Given the description of an element on the screen output the (x, y) to click on. 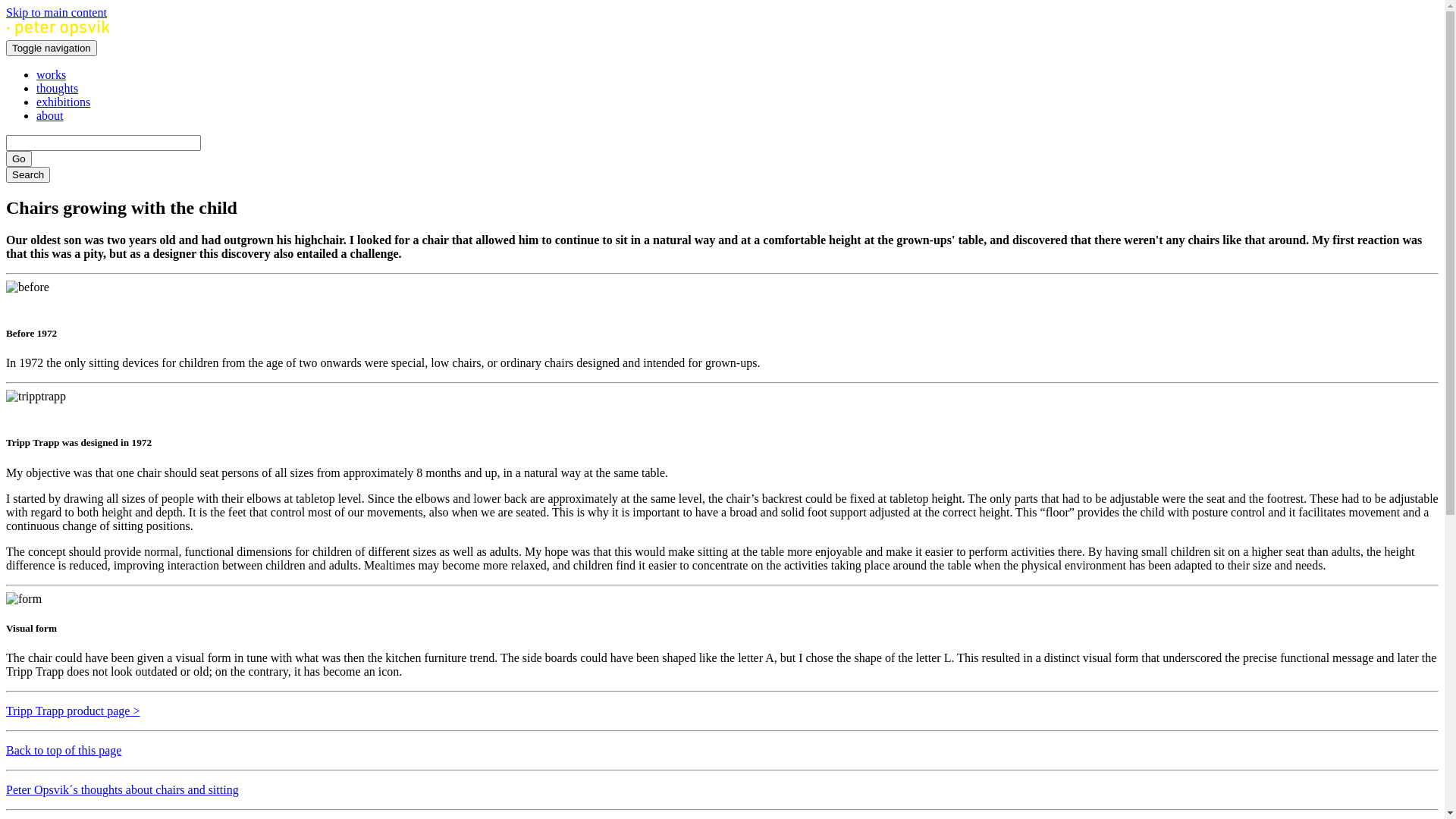
works Element type: text (50, 74)
thoughts Element type: text (57, 87)
Go Element type: text (18, 158)
Skip to main content Element type: text (56, 12)
about Element type: text (49, 115)
Search Element type: text (28, 174)
exhibitions Element type: text (63, 101)
Tripp Trapp product page > Element type: text (72, 710)
Back to top of this page Element type: text (63, 749)
Toggle navigation Element type: text (51, 48)
